Given the description of an element on the screen output the (x, y) to click on. 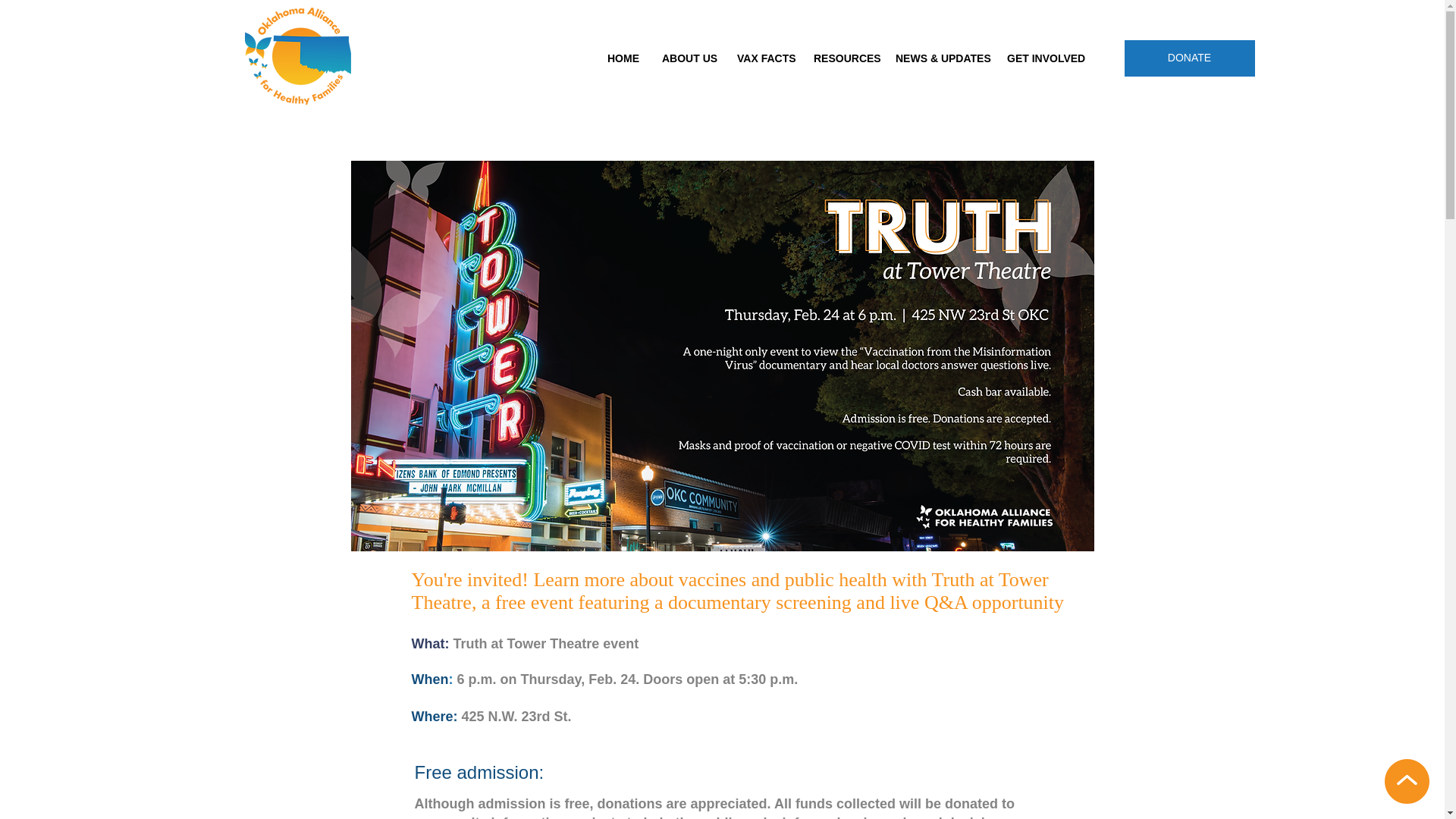
ABOUT US (687, 58)
RESOURCES (842, 58)
VAX FACTS (763, 58)
DONATE (1188, 58)
GET INVOLVED (1042, 58)
HOME (622, 58)
